Given the description of an element on the screen output the (x, y) to click on. 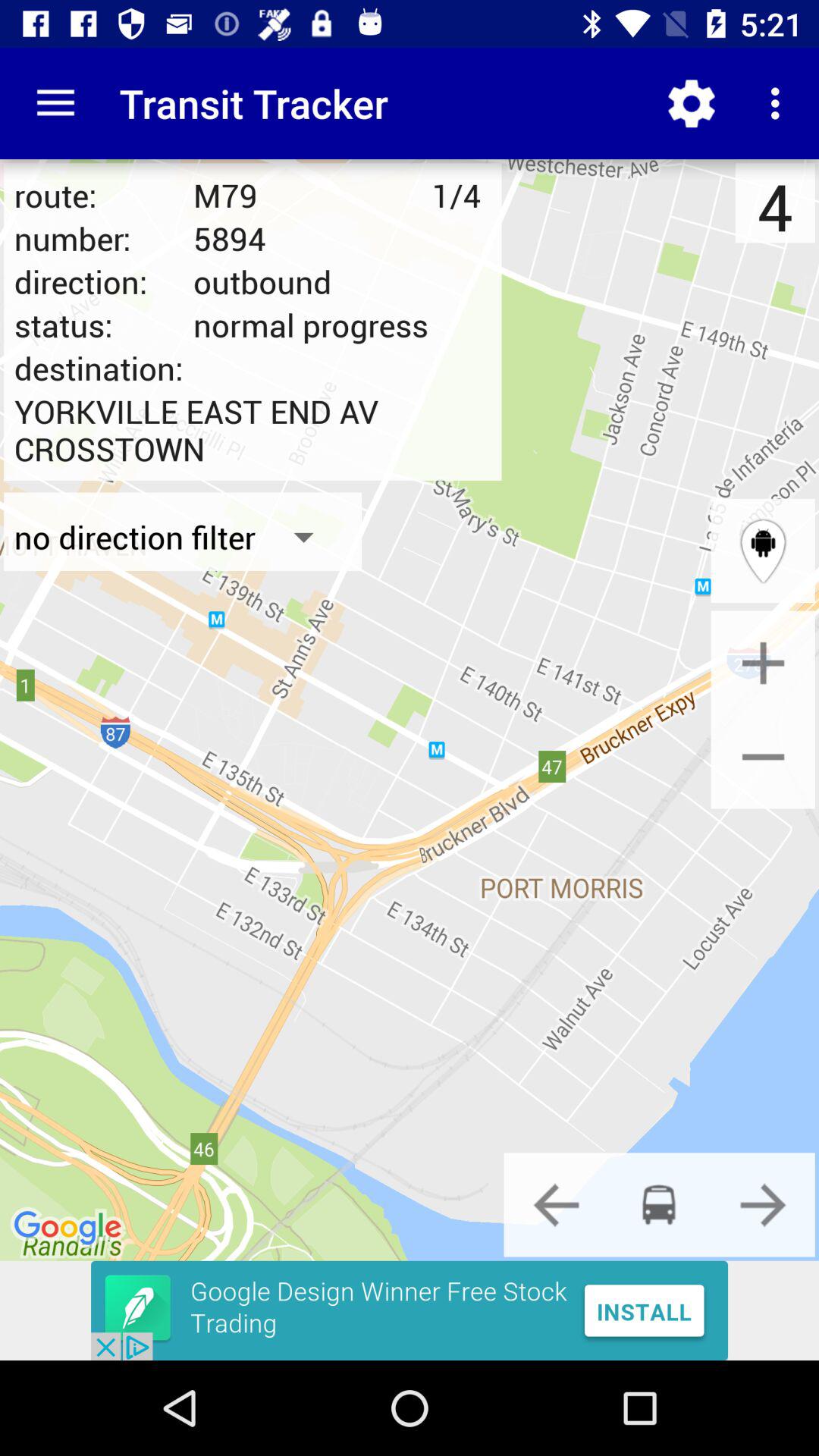
zoom in (762, 662)
